Given the description of an element on the screen output the (x, y) to click on. 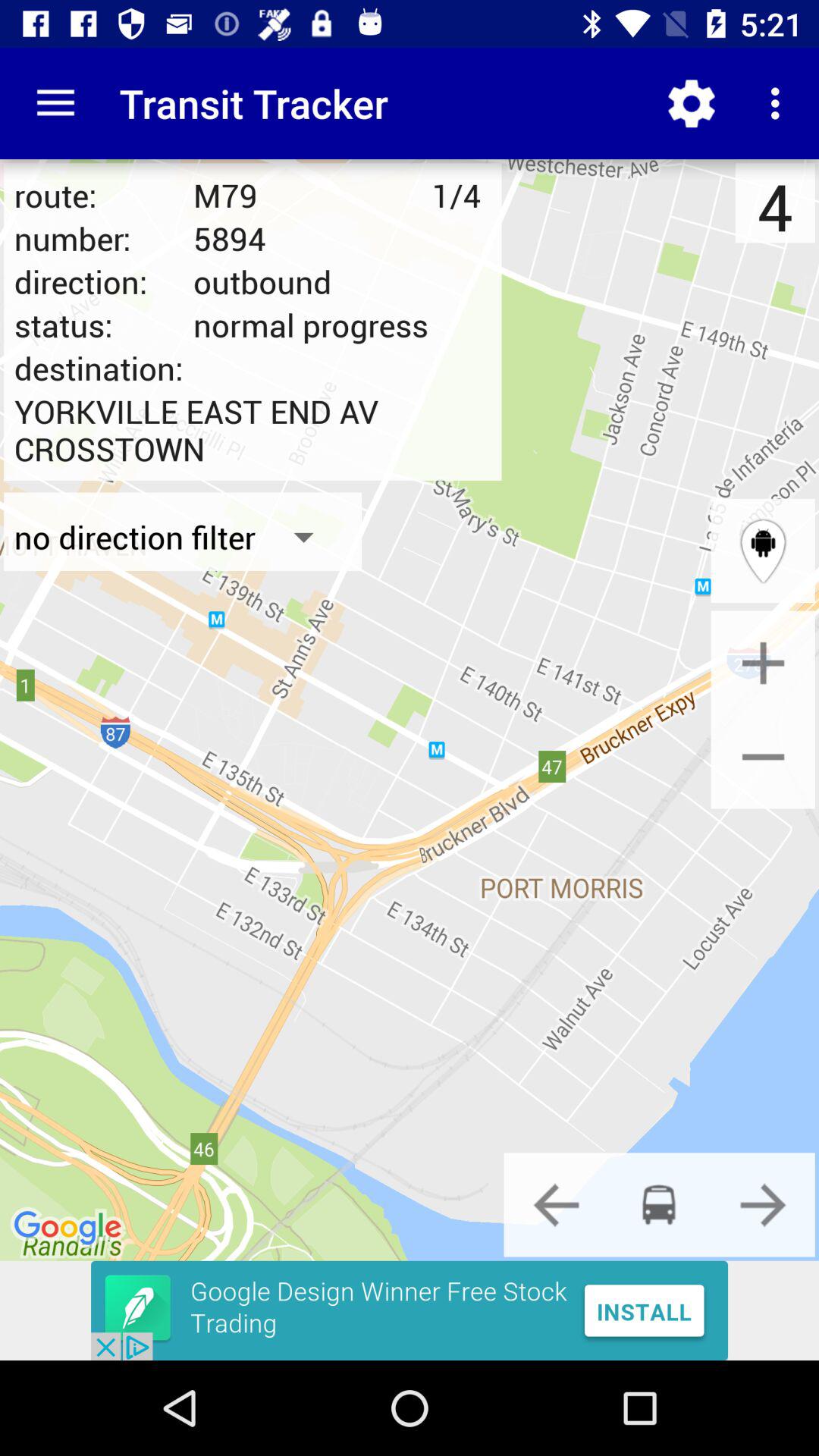
zoom in (762, 662)
